Given the description of an element on the screen output the (x, y) to click on. 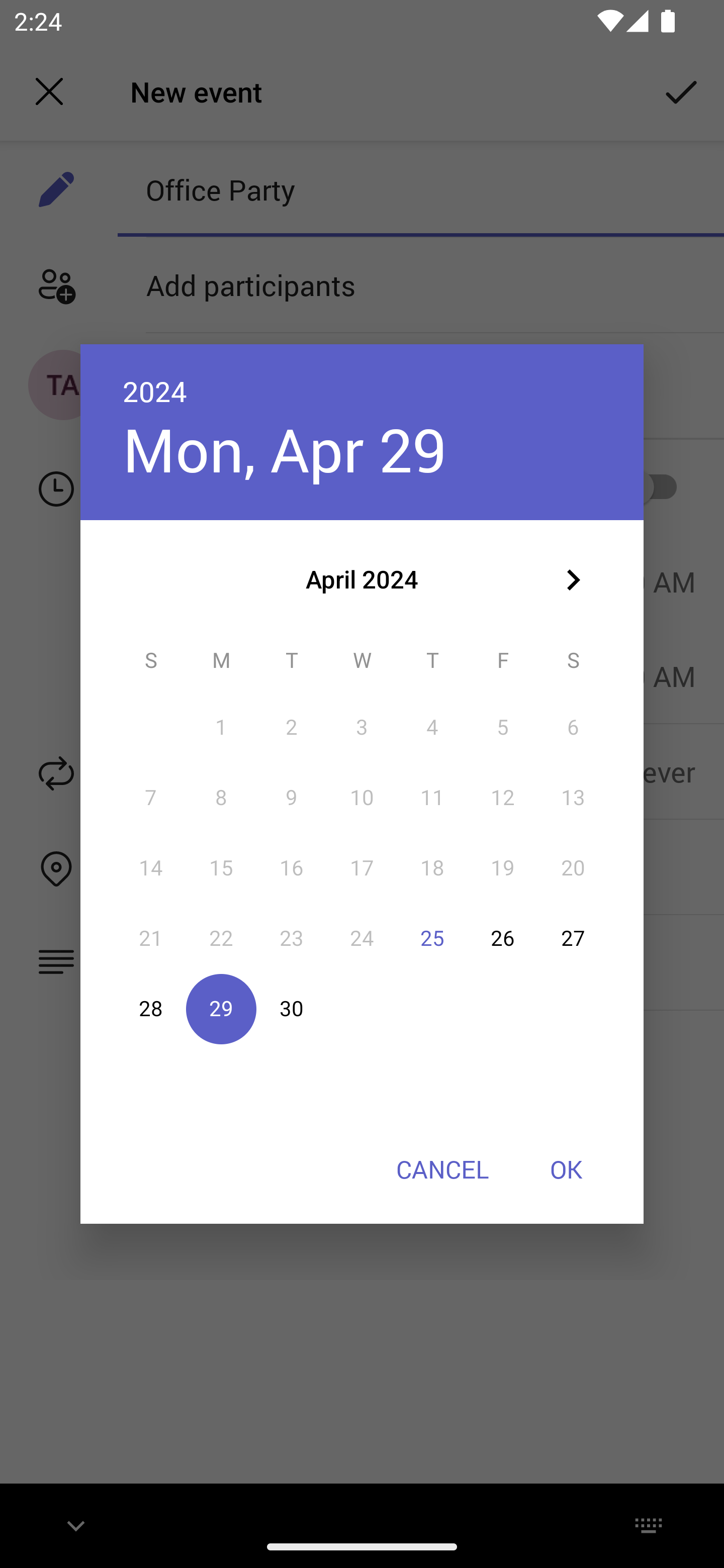
2024 (154, 391)
Mon, Apr 29 (284, 449)
Next month (572, 579)
1 01 April 2024 (221, 728)
2 02 April 2024 (291, 728)
3 03 April 2024 (361, 728)
4 04 April 2024 (432, 728)
5 05 April 2024 (502, 728)
6 06 April 2024 (572, 728)
7 07 April 2024 (150, 797)
8 08 April 2024 (221, 797)
9 09 April 2024 (291, 797)
10 10 April 2024 (361, 797)
11 11 April 2024 (432, 797)
12 12 April 2024 (502, 797)
13 13 April 2024 (572, 797)
14 14 April 2024 (150, 867)
15 15 April 2024 (221, 867)
16 16 April 2024 (291, 867)
17 17 April 2024 (361, 867)
18 18 April 2024 (432, 867)
19 19 April 2024 (502, 867)
20 20 April 2024 (572, 867)
21 21 April 2024 (150, 938)
22 22 April 2024 (221, 938)
23 23 April 2024 (291, 938)
24 24 April 2024 (361, 938)
25 25 April 2024 (432, 938)
26 26 April 2024 (502, 938)
27 27 April 2024 (572, 938)
28 28 April 2024 (150, 1008)
29 29 April 2024 (221, 1008)
30 30 April 2024 (291, 1008)
CANCEL (442, 1168)
OK (565, 1168)
